Given the description of an element on the screen output the (x, y) to click on. 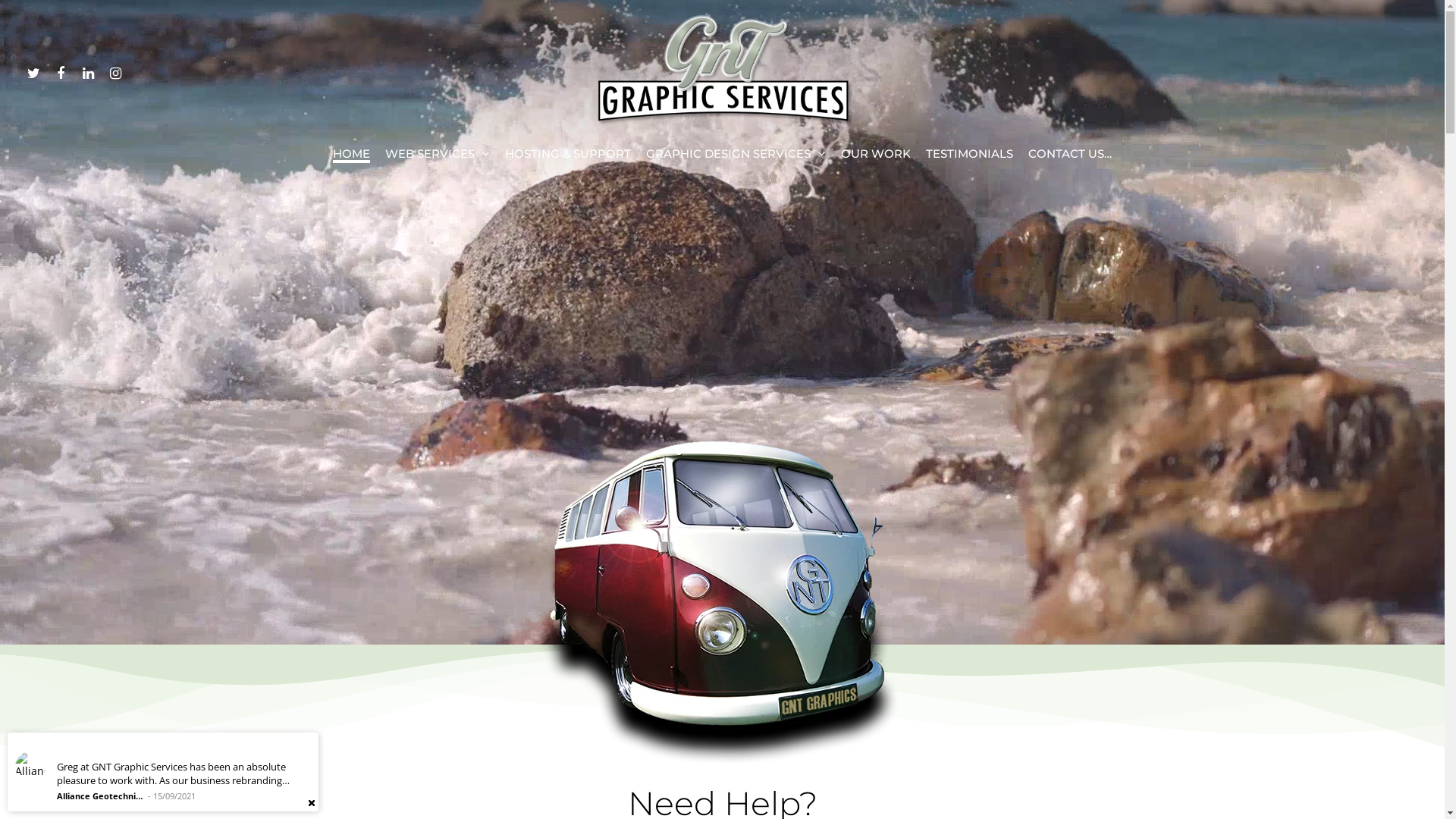
GNT Graphic Services Element type: text (1133, 751)
WEB SERVICES Element type: text (437, 157)
gnt@gntgraphicservices.com.au Element type: text (766, 504)
Terms & Conditions Element type: text (1134, 716)
0421 452 515 Element type: text (623, 504)
GRAPHIC SERVICES Element type: text (738, 637)
GRAPHIC DESIGN SERVICES Element type: text (735, 157)
WEB HOSTING Element type: text (619, 637)
TWITTER Element type: text (33, 71)
OUR WORK Element type: text (875, 157)
WEB SERVICES Element type: text (511, 637)
Privacy Policy Element type: text (1021, 716)
TESTIMONIALS Element type: text (969, 157)
HOSTING & SUPPORT Element type: text (567, 157)
LINKEDIN Element type: text (87, 71)
OUR WORK Element type: text (846, 637)
CONTACT US Element type: text (937, 637)
HOME Element type: text (351, 157)
INSTAGRAM Element type: text (114, 71)
FACEBOOK Element type: text (60, 71)
